Given the description of an element on the screen output the (x, y) to click on. 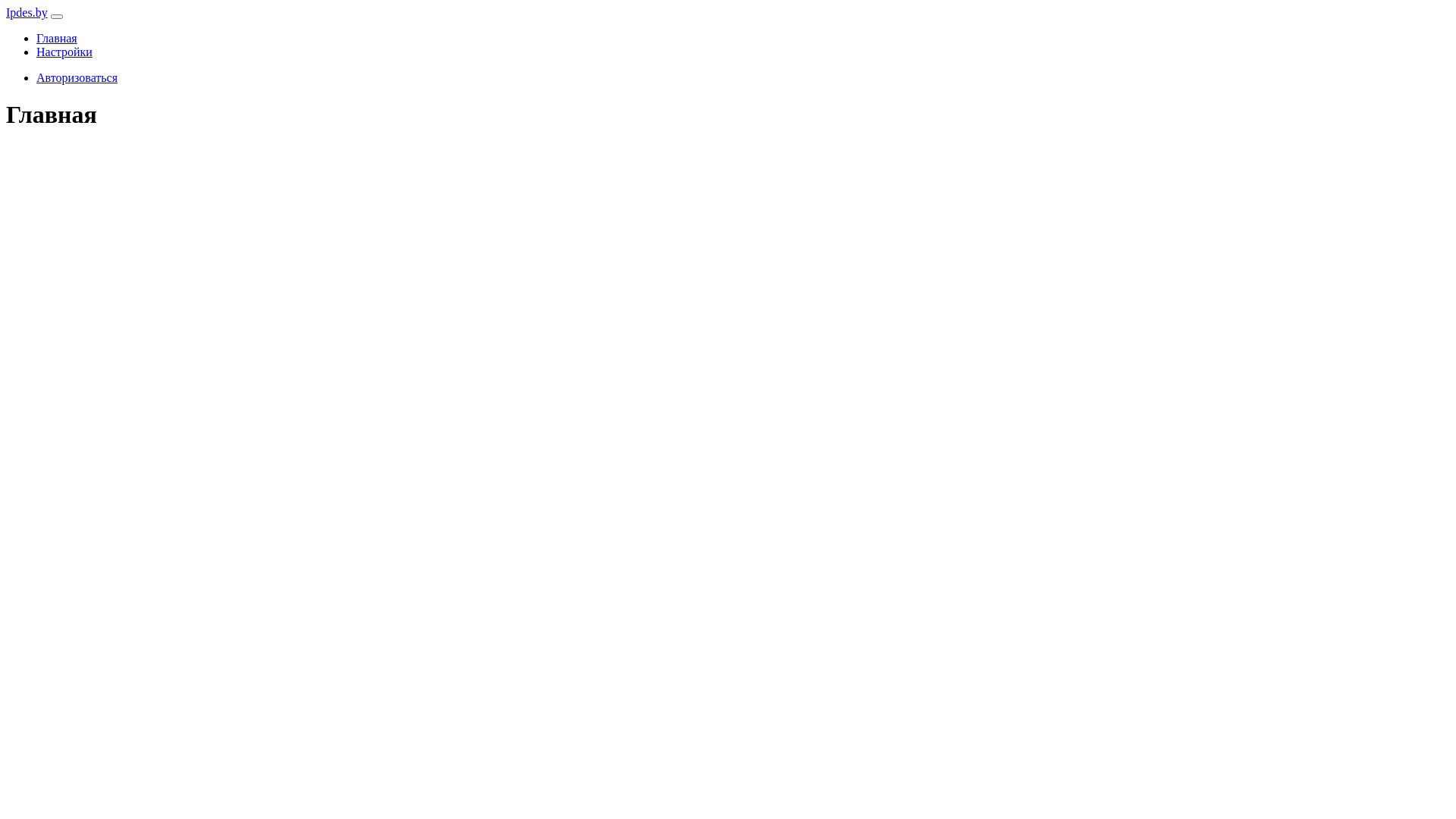
Ipdes.by Element type: text (26, 12)
